Given the description of an element on the screen output the (x, y) to click on. 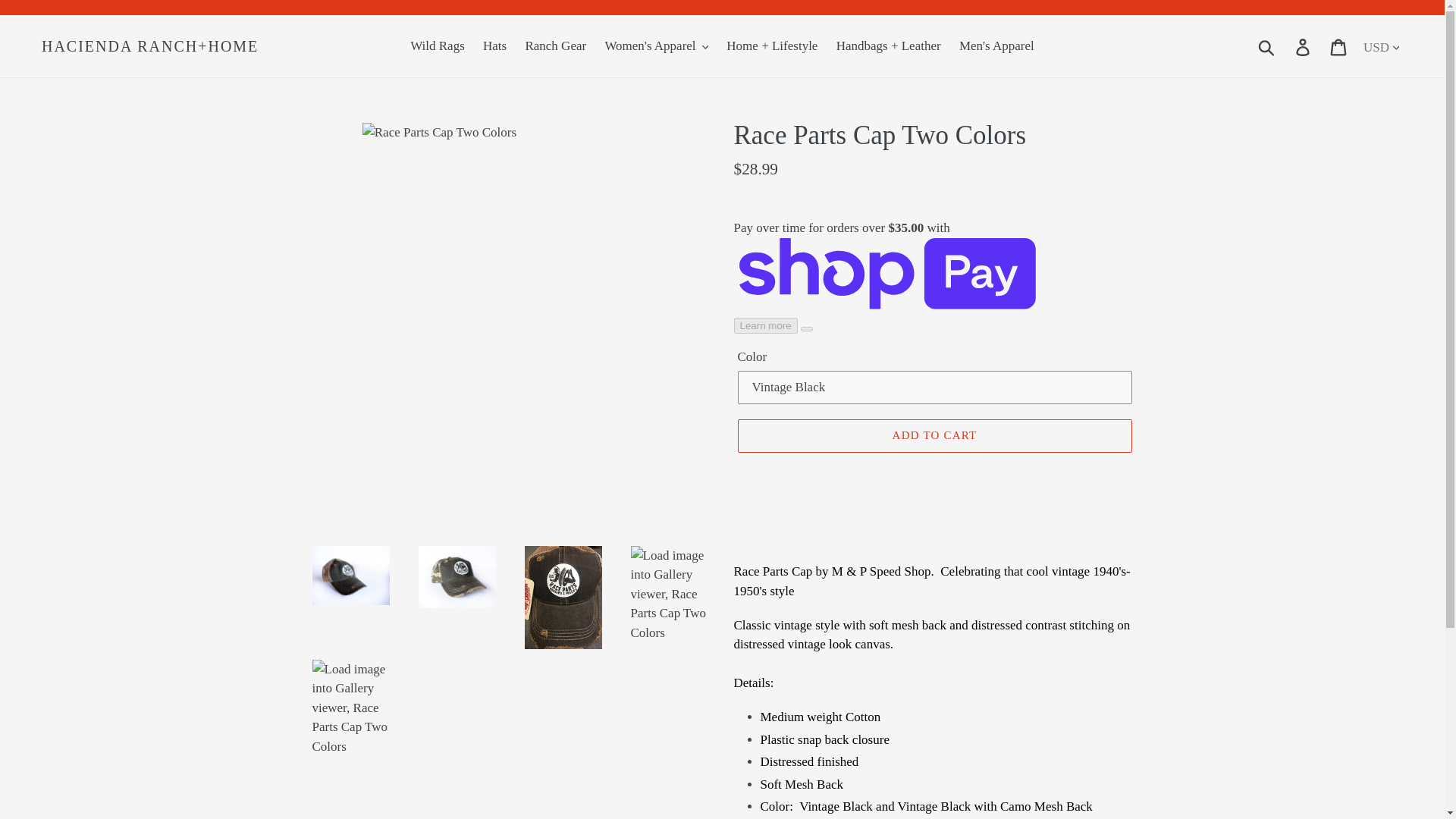
Men's Apparel (997, 46)
ADD TO CART (933, 435)
Log in (1303, 45)
Cart (1339, 45)
Hats (494, 46)
Submit (1267, 46)
Ranch Gear (555, 46)
Wild Rags (437, 46)
